Given the description of an element on the screen output the (x, y) to click on. 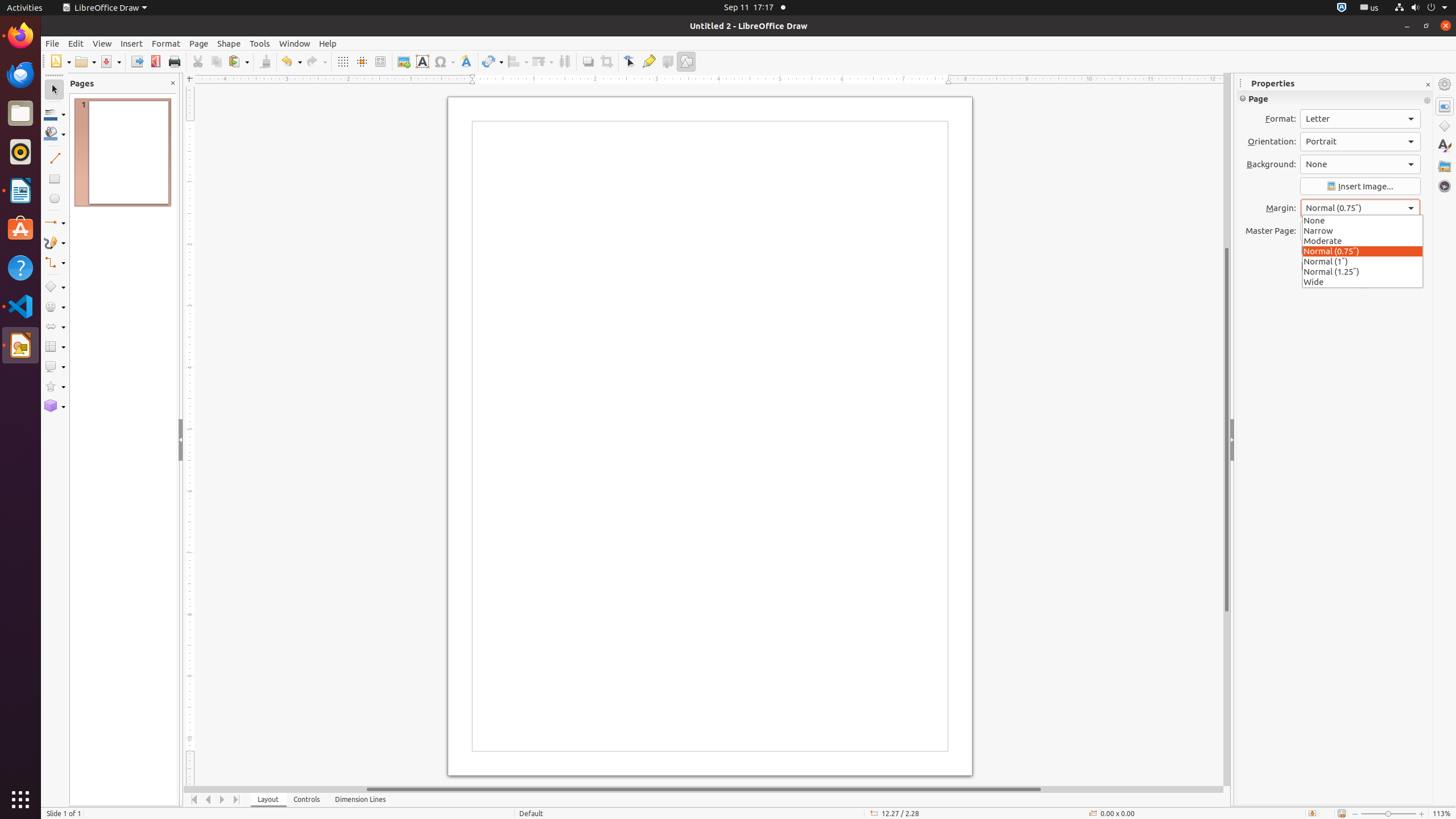
Undo Element type: push-button (290, 61)
Line Color Element type: push-button (54, 113)
PDF Element type: push-button (155, 61)
Image Element type: push-button (403, 61)
Help Element type: menu (327, 43)
